Given the description of an element on the screen output the (x, y) to click on. 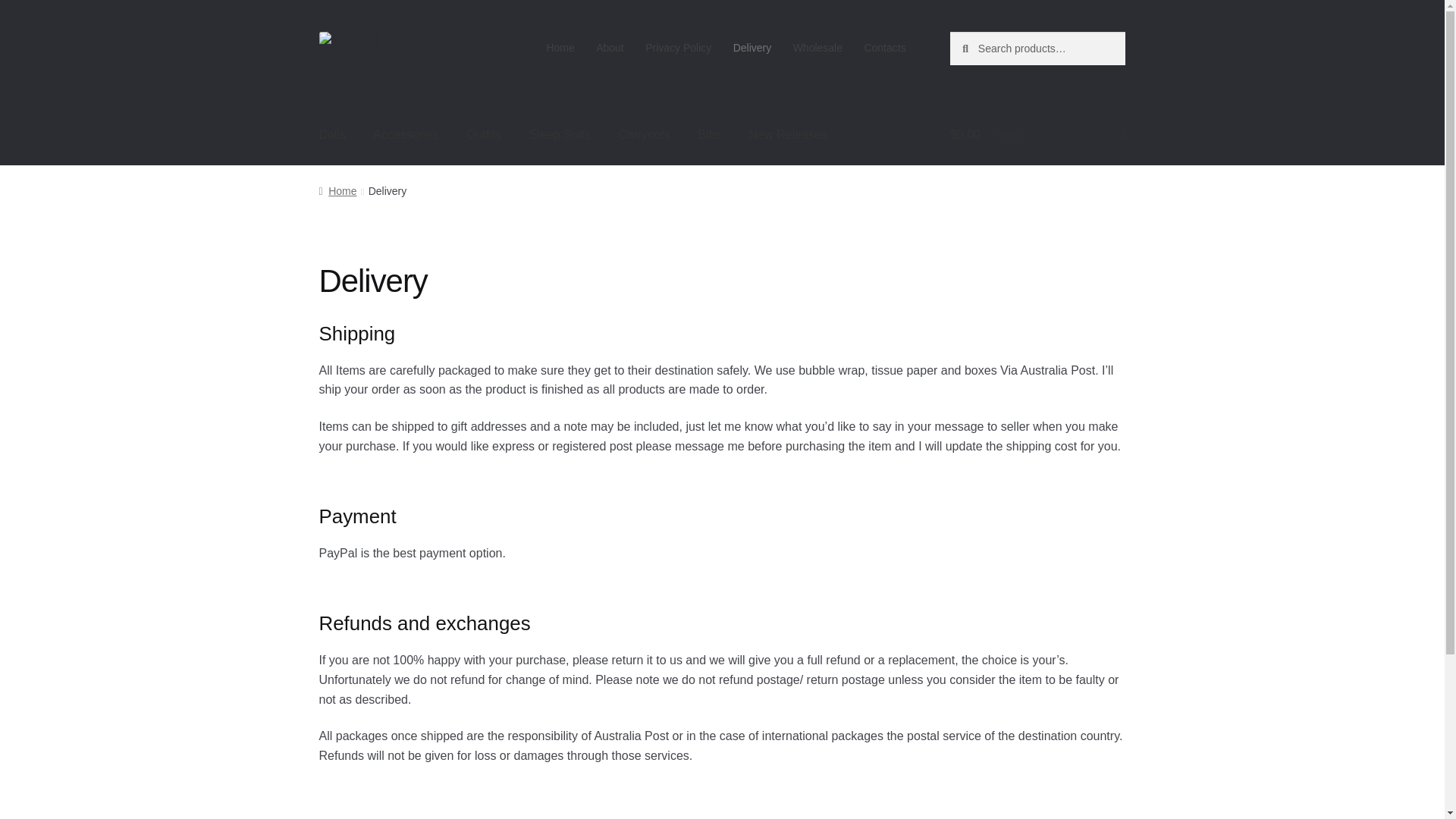
Delivery (751, 47)
Wholesale (817, 47)
Sleep Suits (559, 134)
Home (337, 191)
Outfits (483, 134)
About (609, 47)
Contacts (884, 47)
Accessories (406, 134)
View your shopping cart (1037, 134)
